Given the description of an element on the screen output the (x, y) to click on. 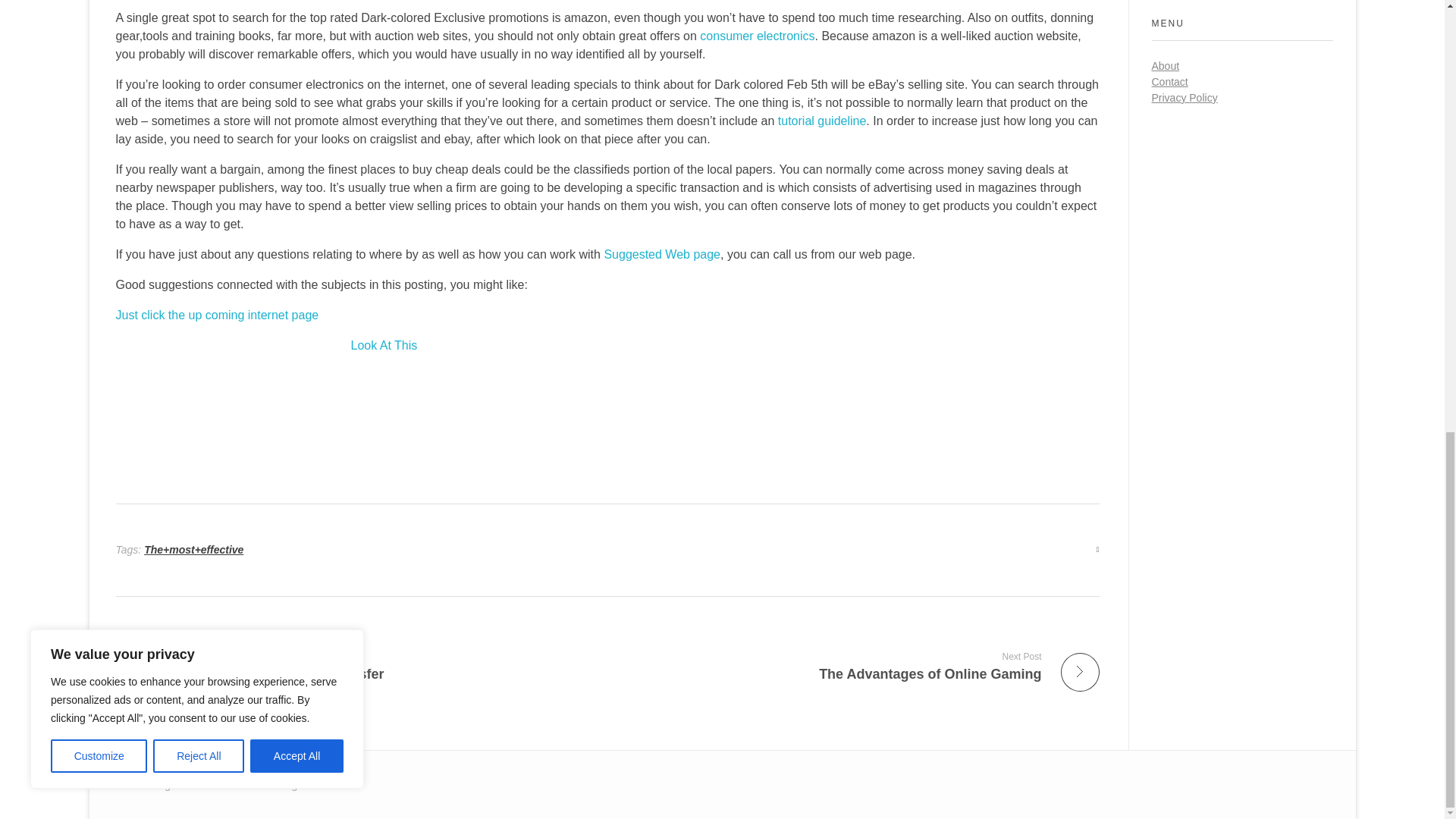
Look At This (383, 345)
tutorial guideline (821, 120)
Suggested Web page (662, 254)
consumer electronics (859, 666)
Just click the up coming internet page (355, 666)
